Given the description of an element on the screen output the (x, y) to click on. 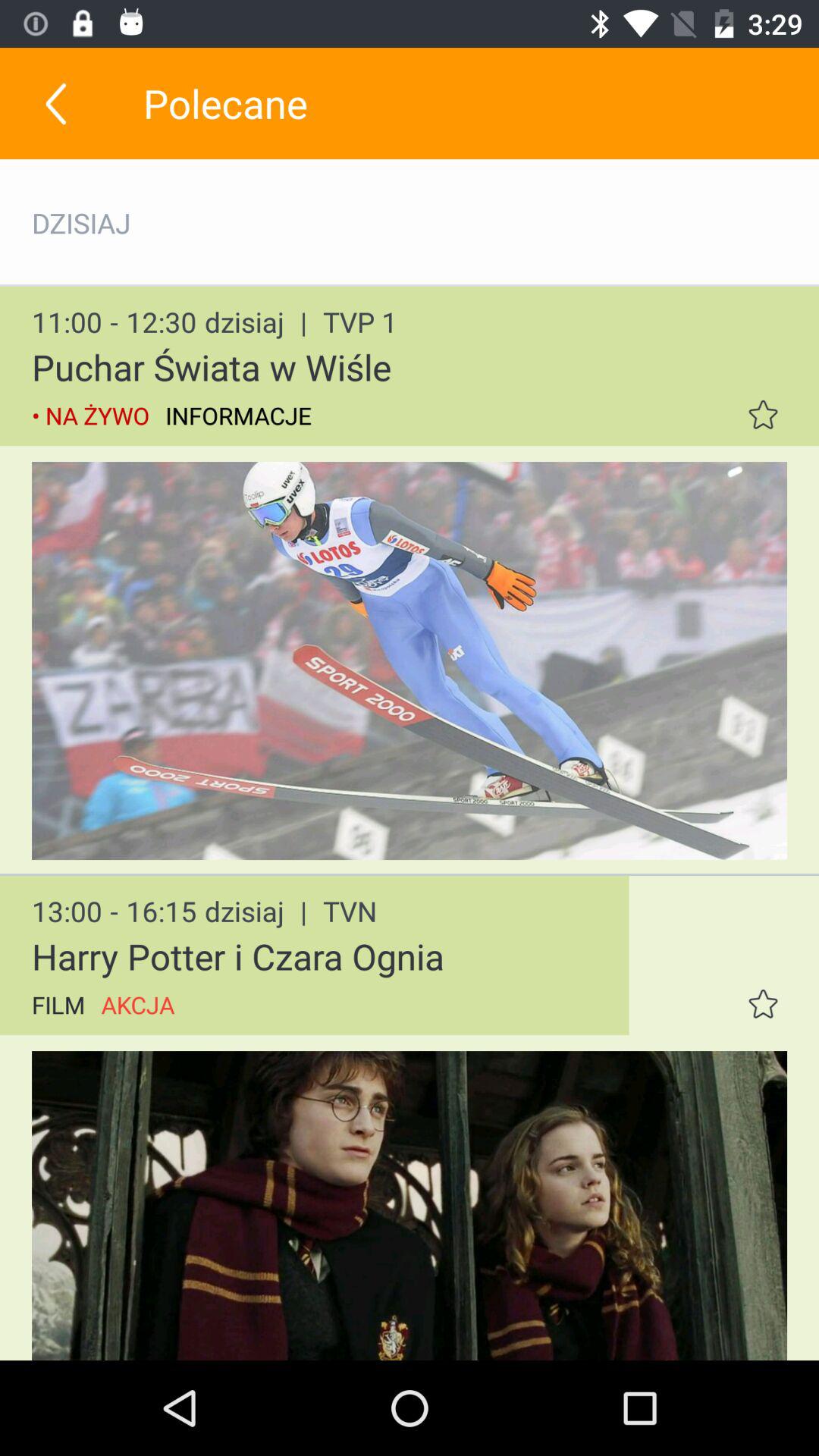
launch icon above the dzisiaj item (55, 103)
